Given the description of an element on the screen output the (x, y) to click on. 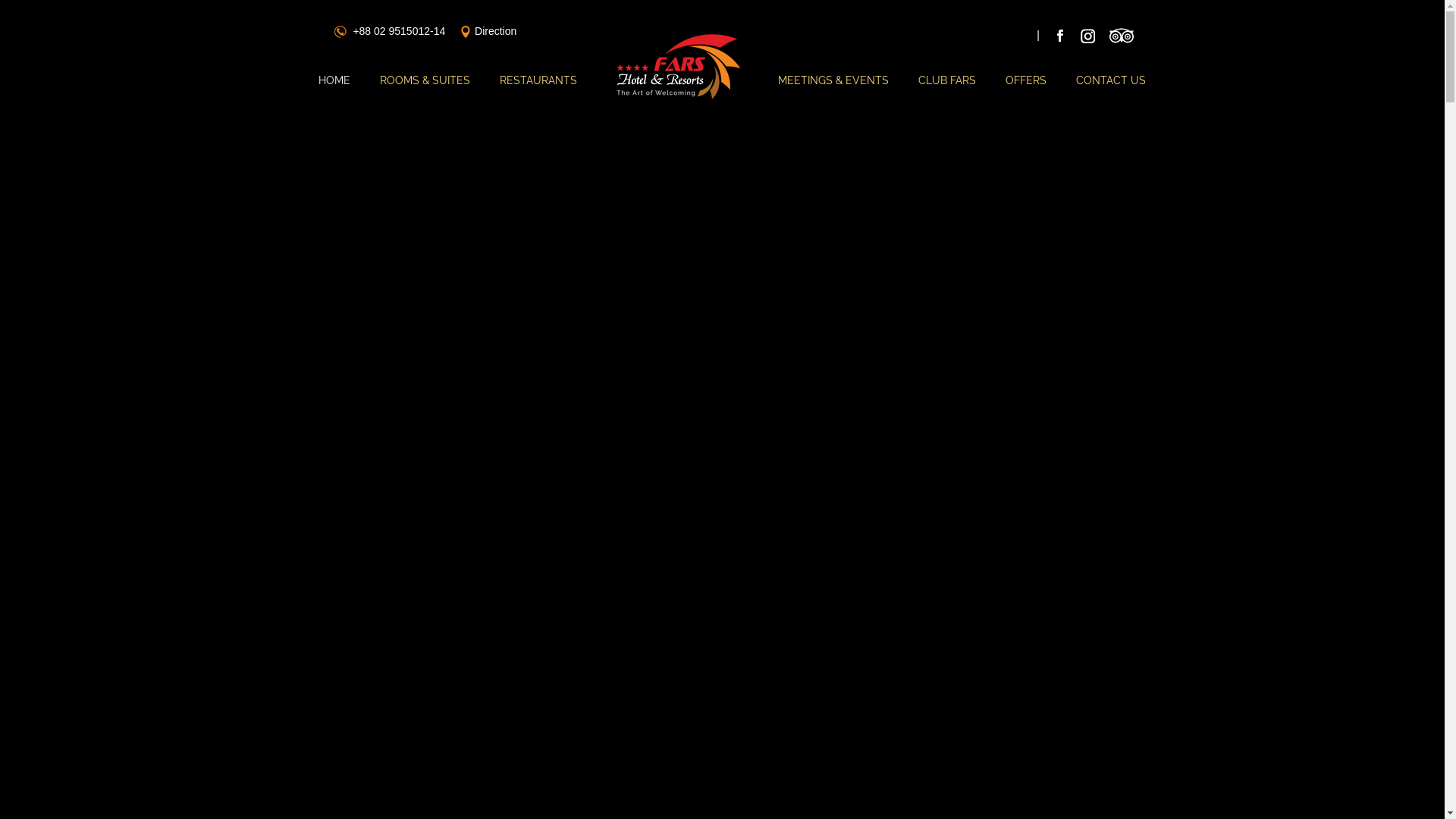
HOME Element type: text (327, 90)
CLUB FARS Element type: text (941, 90)
ROOMS & SUITES Element type: text (418, 90)
CONTACT US Element type: text (1101, 90)
RESTAURANTS Element type: text (532, 90)
Direction Element type: text (495, 31)
OFFERS Element type: text (1019, 90)
MEETINGS & EVENTS Element type: text (826, 90)
